Given the description of an element on the screen output the (x, y) to click on. 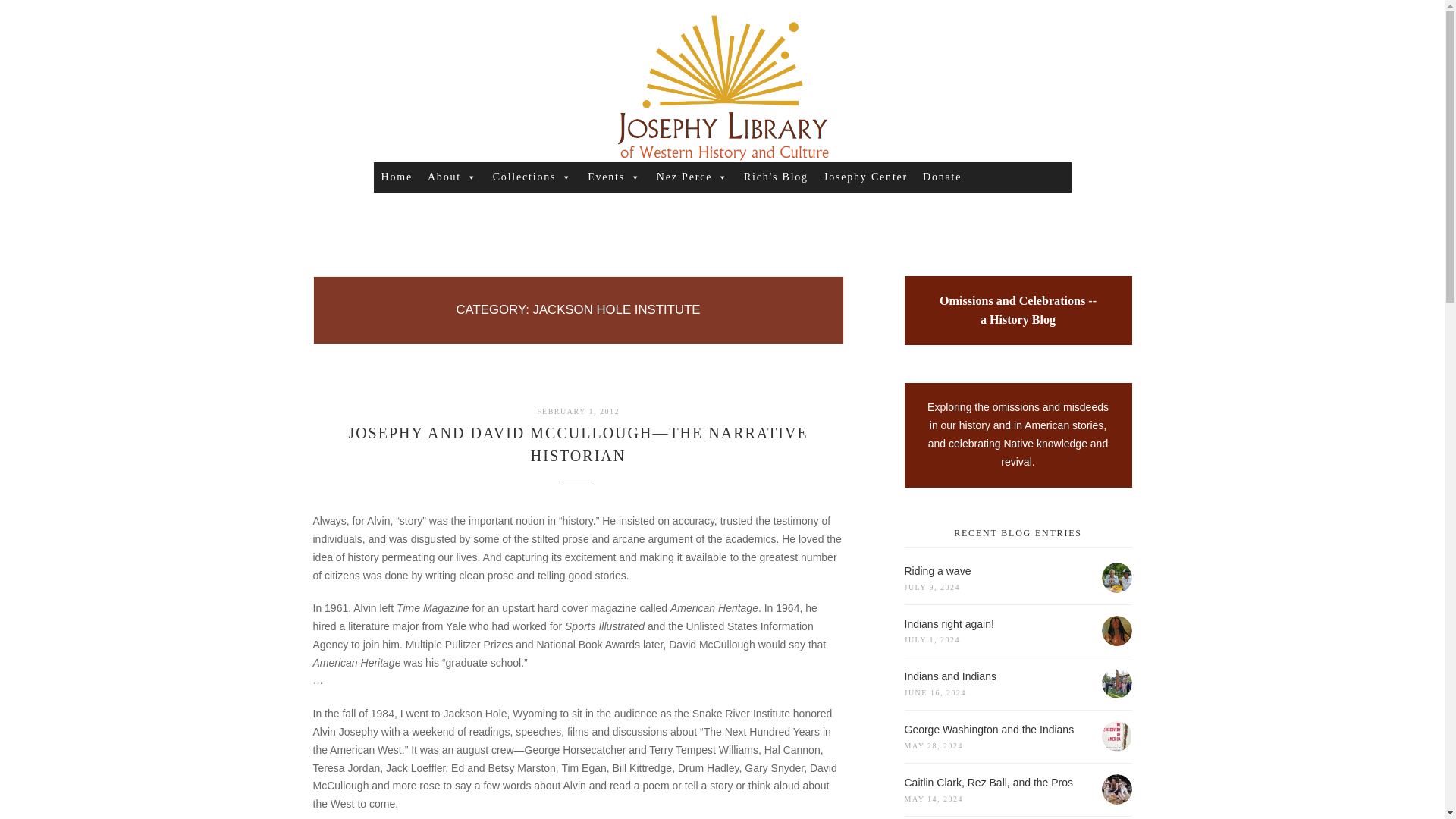
Events (614, 177)
Rich's Blog (775, 177)
About (452, 177)
Josephy Center (865, 177)
Nez Perce (692, 177)
Home (395, 177)
FEBRUARY 1, 2012 (578, 411)
Donate (942, 177)
Collections (531, 177)
